Given the description of an element on the screen output the (x, y) to click on. 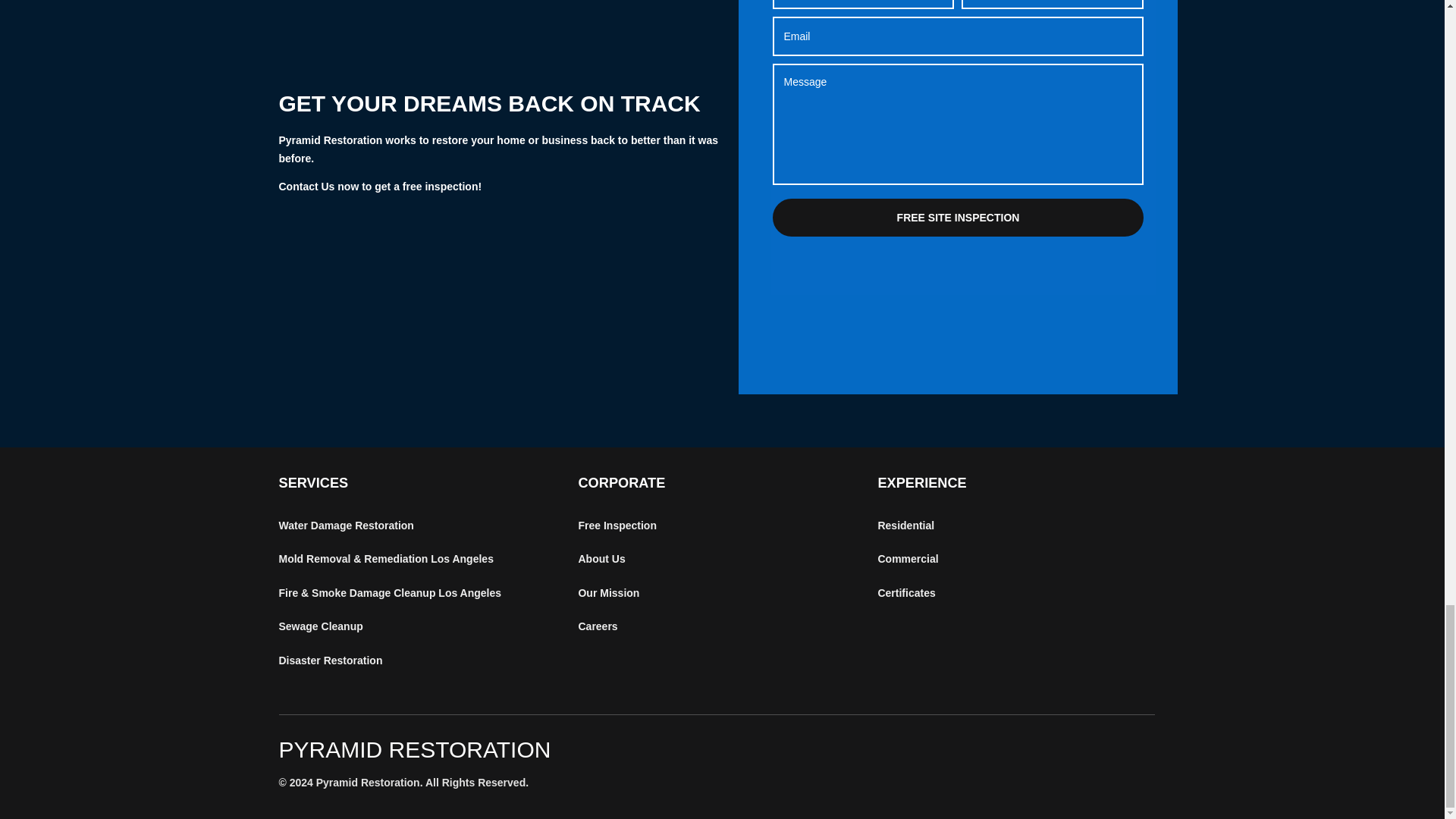
Free Site Inspection (957, 217)
Contact Us (306, 186)
Free Site Inspection (957, 217)
